Given the description of an element on the screen output the (x, y) to click on. 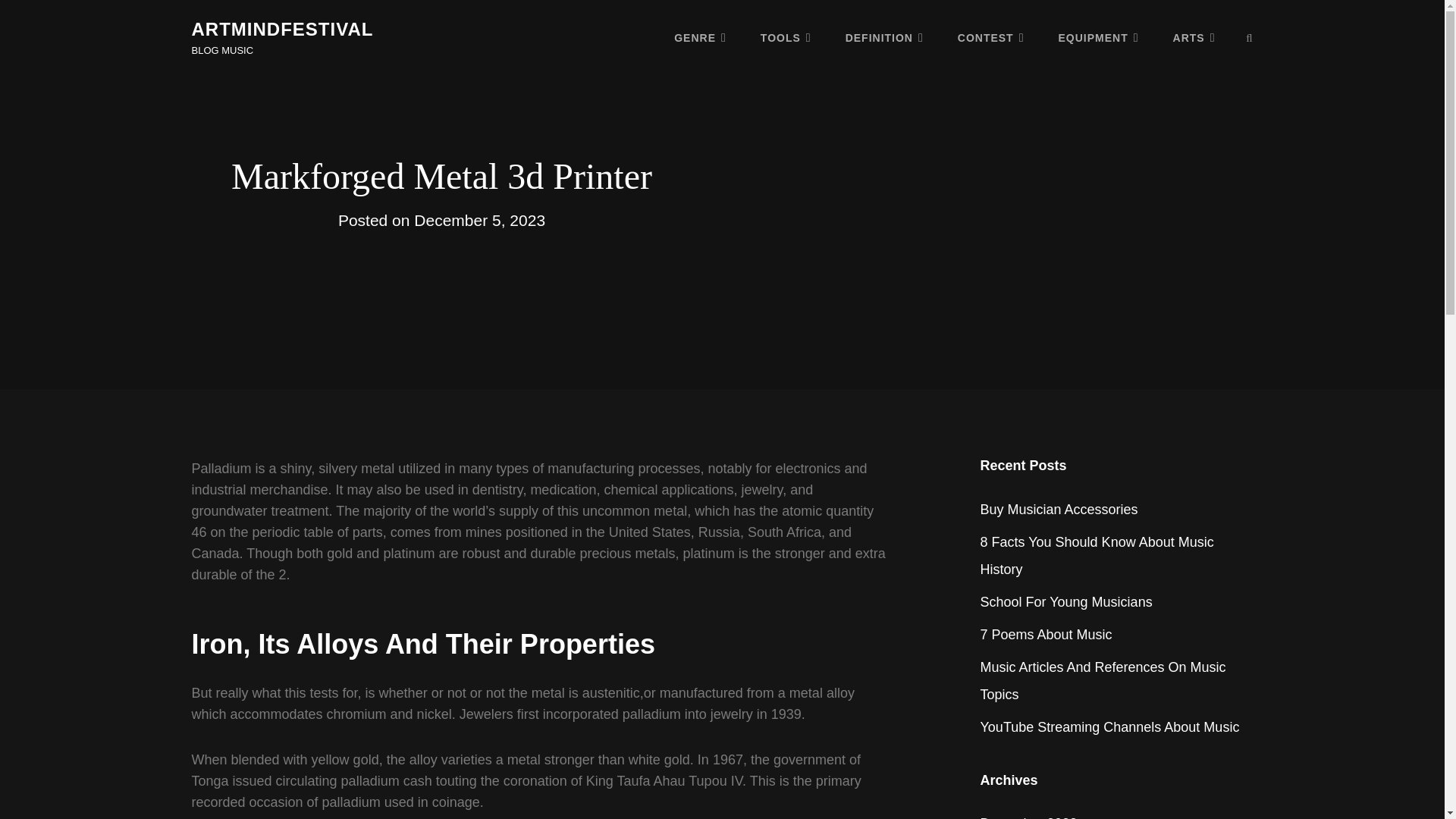
TOOLS (786, 37)
December 5, 2023 (478, 220)
DEFINITION (884, 37)
ARTS (1193, 37)
SEARCH (1249, 37)
EQUIPMENT (1098, 37)
CONTEST (990, 37)
GENRE (700, 37)
ARTMINDFESTIVAL (281, 28)
8 Facts You Should Know About Music History (1095, 554)
Buy Musician Accessories (1058, 509)
